Given the description of an element on the screen output the (x, y) to click on. 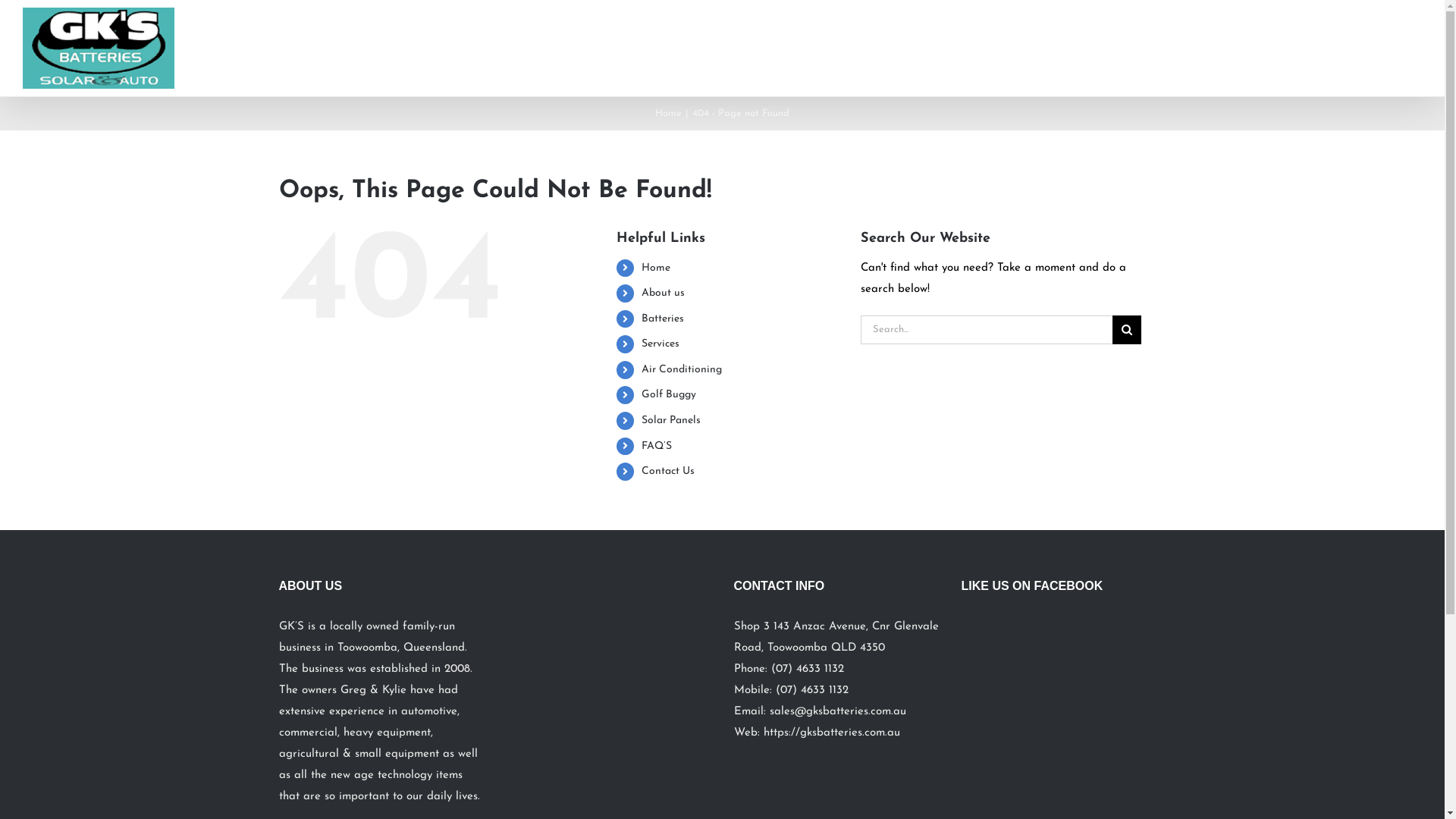
About us Element type: text (877, 39)
Services Element type: text (660, 343)
Air Conditioning Element type: text (681, 369)
Golf Buggy Element type: text (1173, 39)
Golf Buggy Element type: text (668, 394)
Home Element type: text (822, 39)
Services Element type: text (1011, 39)
Batteries Element type: text (662, 318)
sales@gksbatteries.com.au Element type: text (836, 711)
Contact Us Element type: text (667, 470)
(07) 4633 1132 Element type: text (806, 668)
Home Element type: text (655, 267)
Contact Us Element type: text (1375, 39)
Batteries Element type: text (946, 39)
About us Element type: text (662, 292)
(07) 4633 1132 Element type: text (811, 690)
https://gksbatteries.com.au Element type: text (830, 732)
Solar Panels Element type: text (670, 420)
Solar Panels Element type: text (1248, 39)
Air Conditioning Element type: text (1088, 39)
Home Element type: text (668, 113)
